Given the description of an element on the screen output the (x, y) to click on. 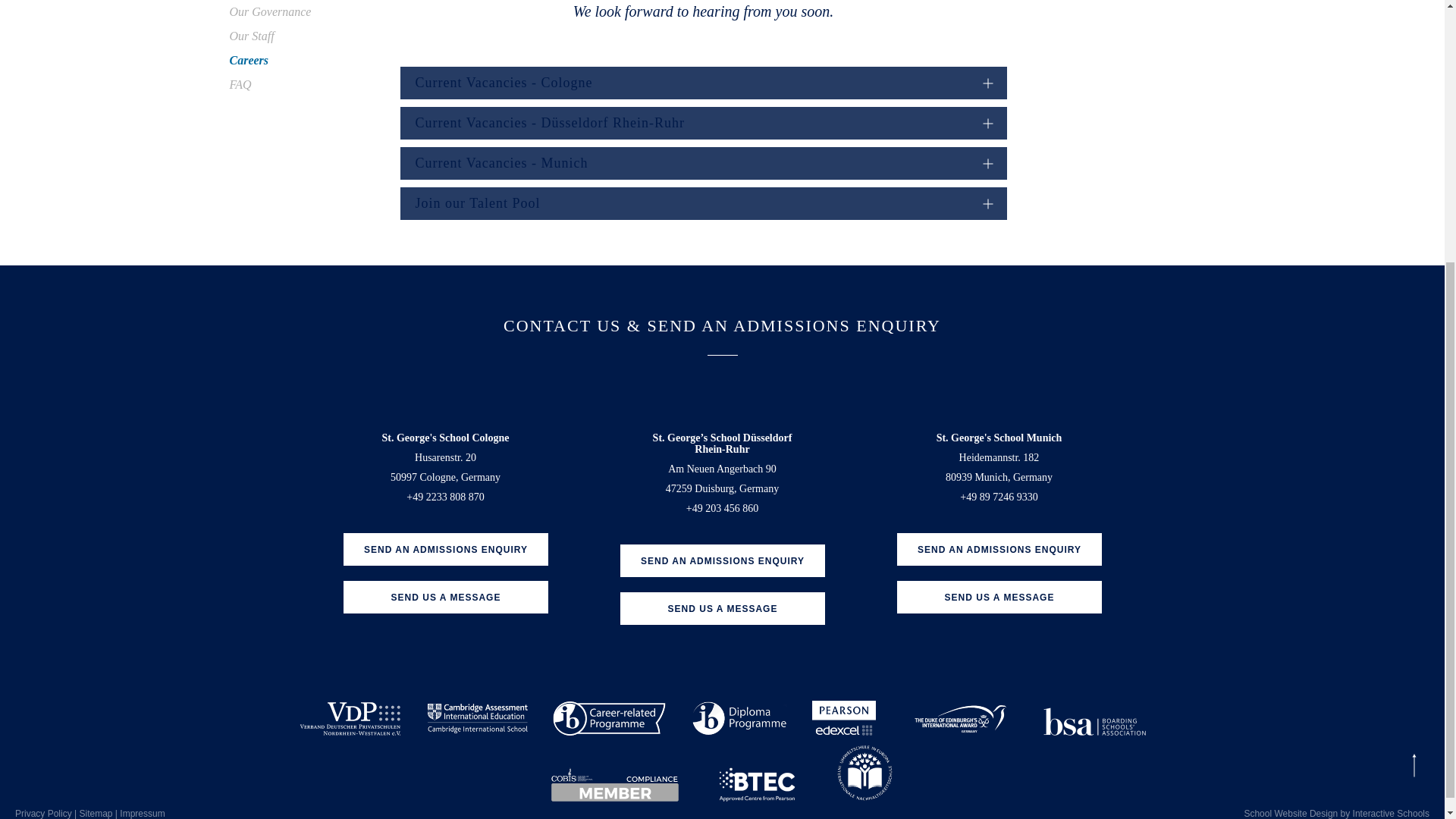
Send Us a Message (444, 596)
Send Us a Message (998, 596)
Send an Admissions Enquiry (722, 560)
Send an Admissions Enquiry (444, 549)
Send Us a Message (722, 608)
Send an Admissions Enquiry (998, 549)
